Given the description of an element on the screen output the (x, y) to click on. 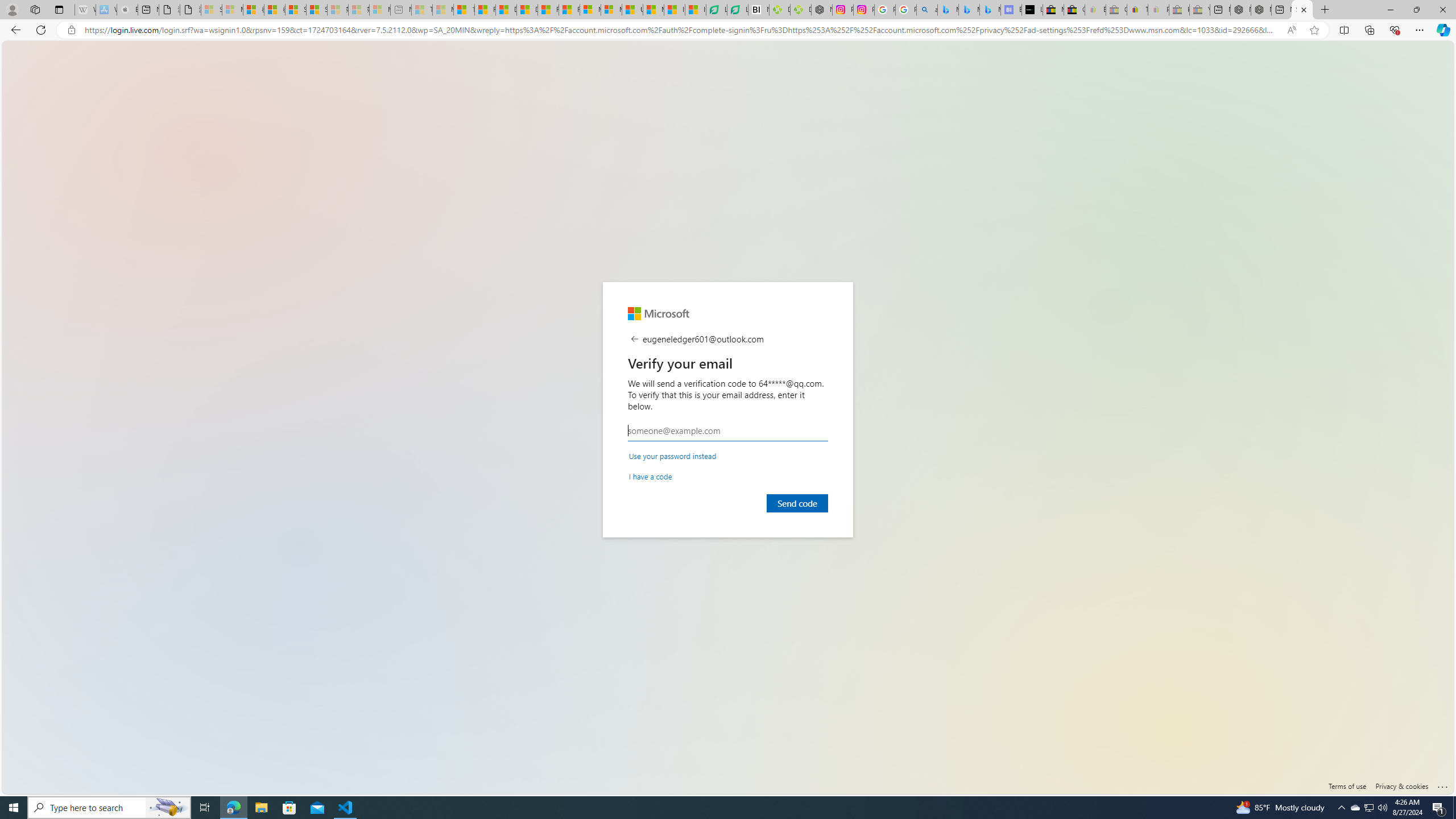
Privacy & cookies (1401, 785)
Microsoft Services Agreement - Sleeping (231, 9)
Microsoft account | Account Checkup - Sleeping (379, 9)
